Given the description of an element on the screen output the (x, y) to click on. 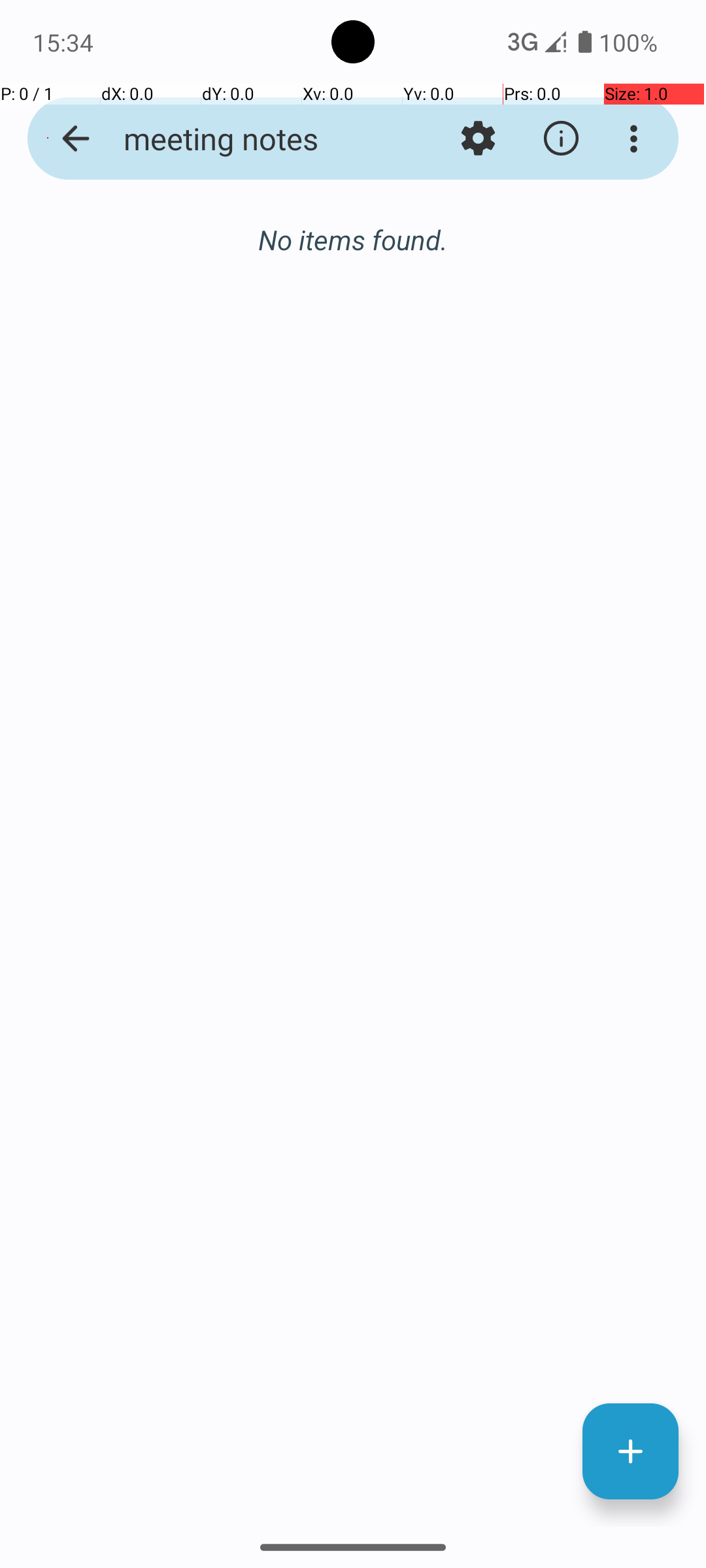
meeting notes Element type: android.widget.EditText (252, 138)
